Given the description of an element on the screen output the (x, y) to click on. 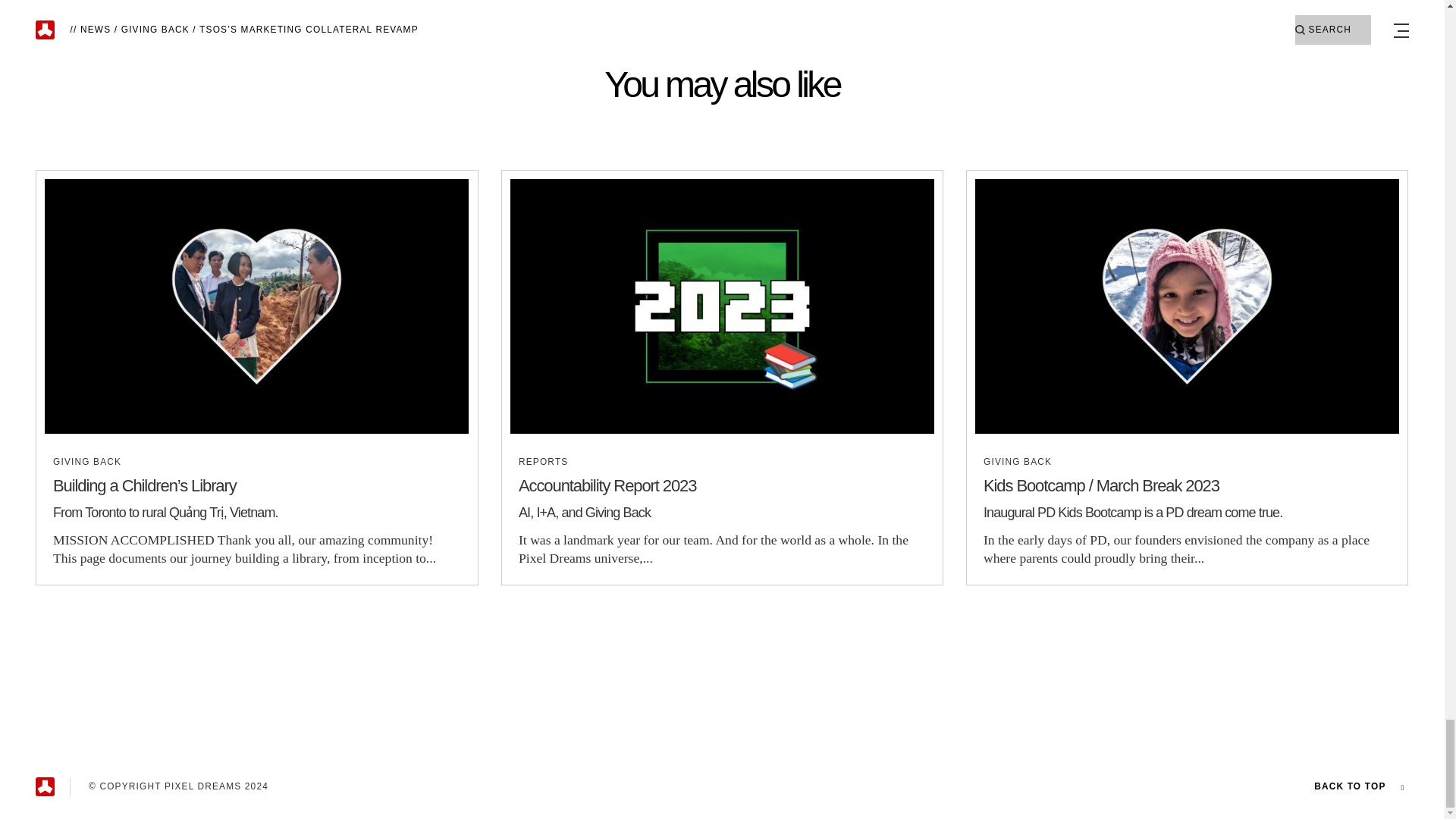
BACK TO TOP (1350, 786)
